Given the description of an element on the screen output the (x, y) to click on. 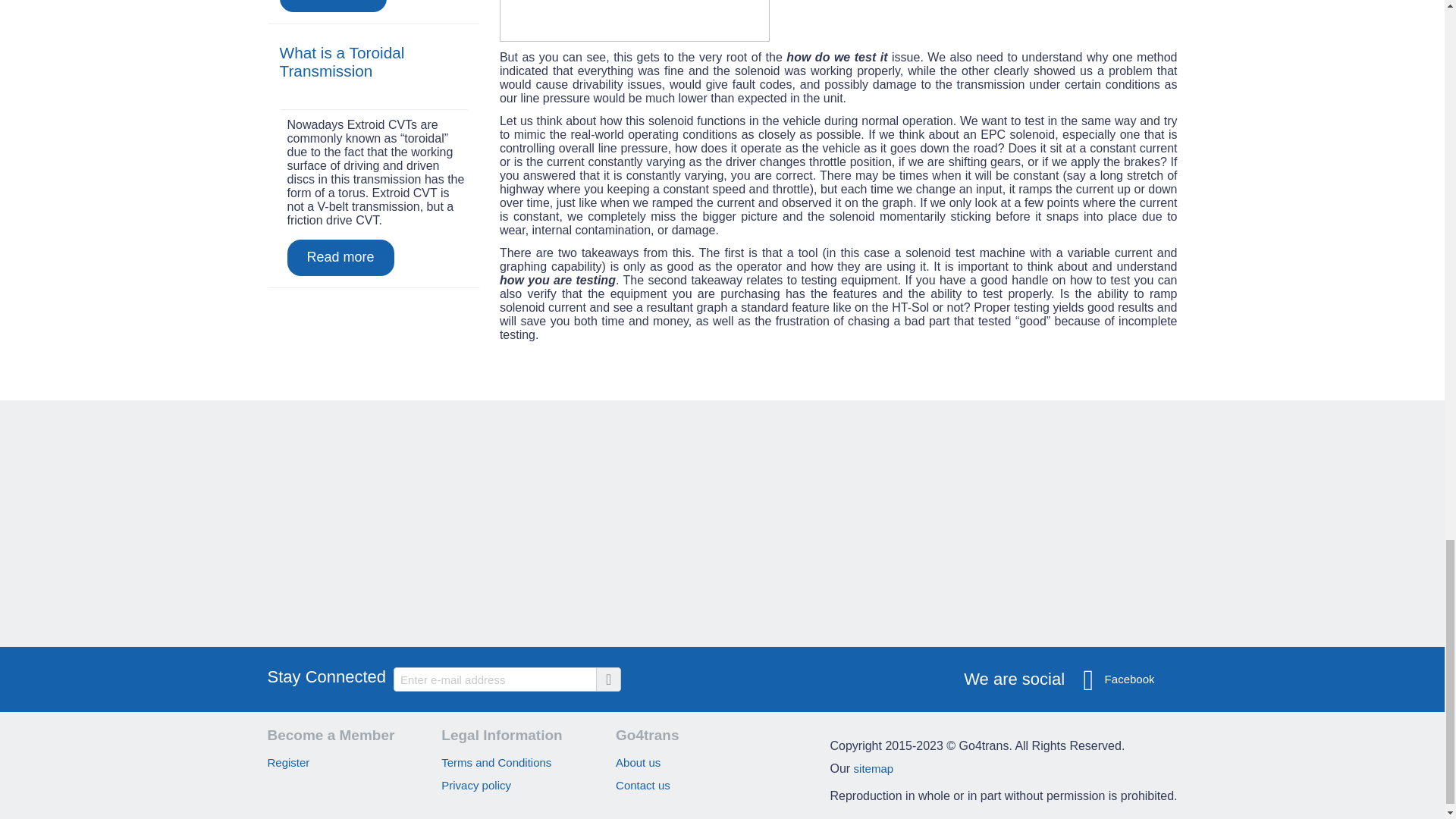
Read more (332, 6)
What is a Toroidal Transmission (341, 61)
Enter e-mail address (507, 679)
